Given the description of an element on the screen output the (x, y) to click on. 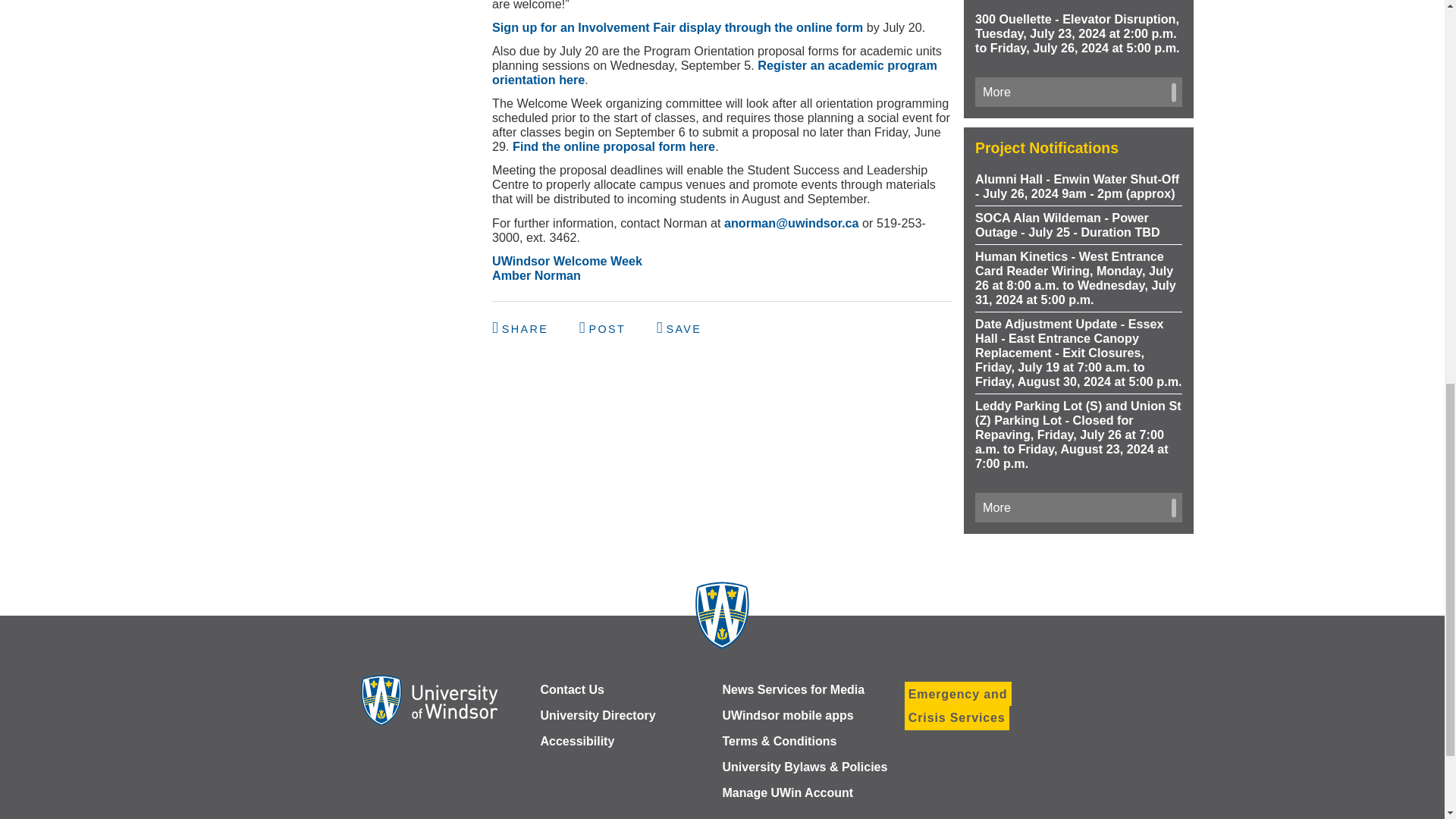
Share us on Facebook (521, 327)
View this feed's recent news. (1078, 91)
Share us on Pinterest (678, 327)
View this feed's recent news. (1078, 507)
